Given the description of an element on the screen output the (x, y) to click on. 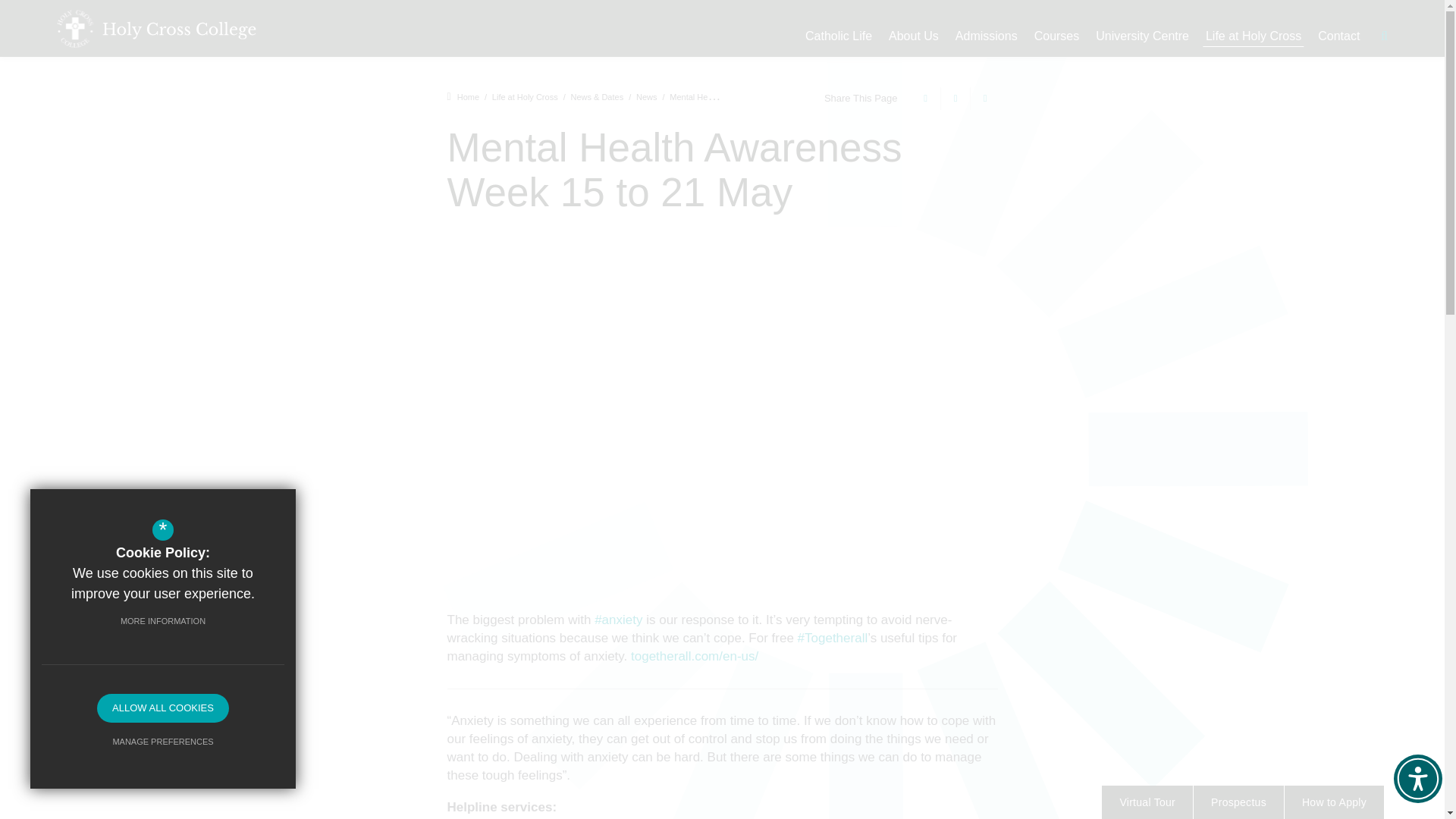
Share on Twitter (953, 97)
Email this page (982, 97)
Share on Facebook (923, 97)
 Holy Cross College (156, 27)
Accessibility Menu (1417, 778)
About Us (913, 36)
Catholic Life (838, 36)
